Given the description of an element on the screen output the (x, y) to click on. 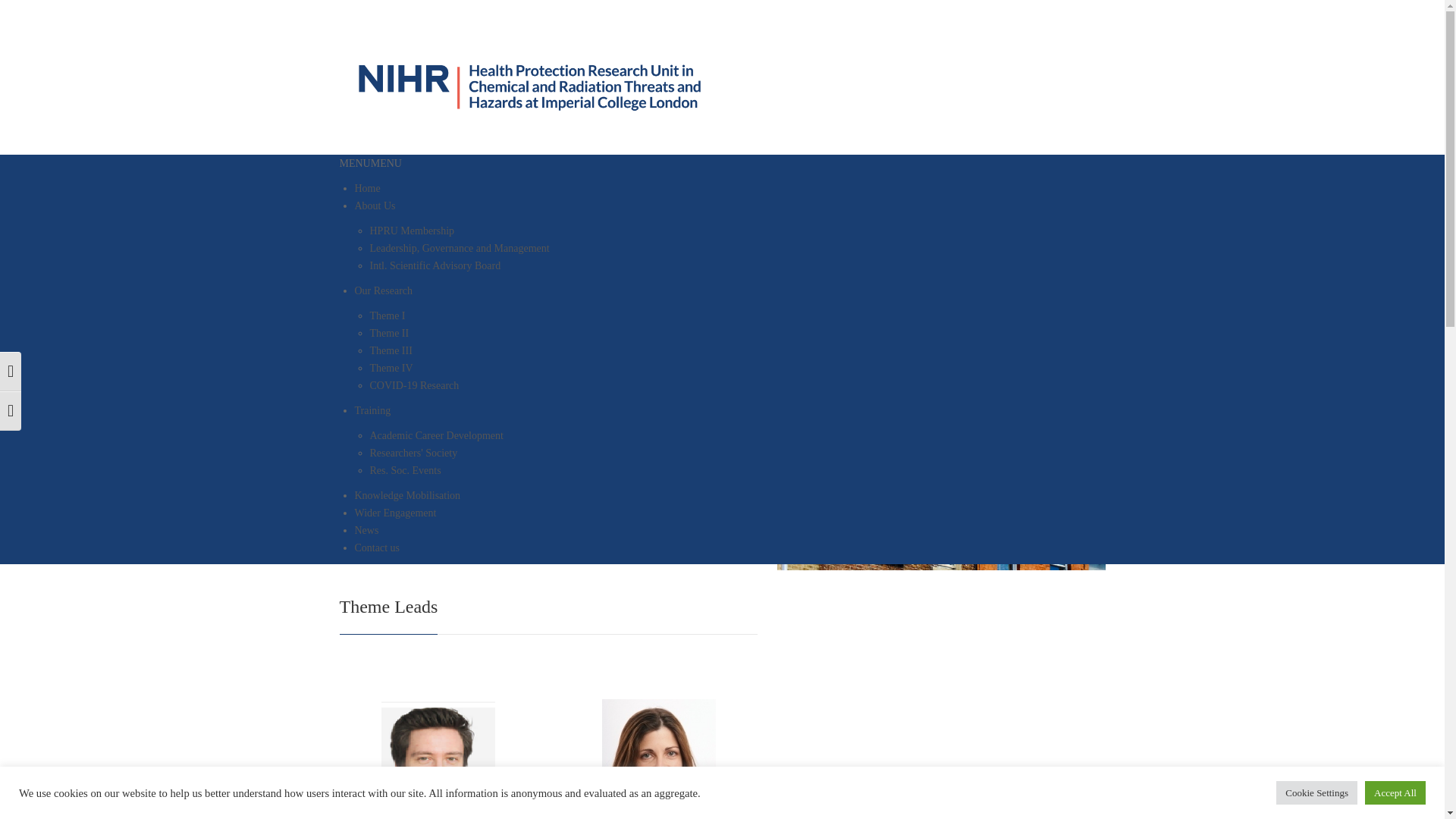
Res. Soc. Events (405, 470)
Theme I (387, 315)
Leadership, Governance and Management (459, 247)
Knowledge Mobilisation (408, 495)
Chemical Radiation Threats and Hazards (530, 85)
Theme III (390, 350)
Researchers' Society (413, 452)
Theme II (389, 333)
Academic Career Development (436, 435)
Our Research (384, 290)
Theme IV (391, 367)
Toggle High Contrast (10, 371)
COVID-19 Research (414, 385)
HPRU Membership (411, 230)
Home (367, 188)
